Given the description of an element on the screen output the (x, y) to click on. 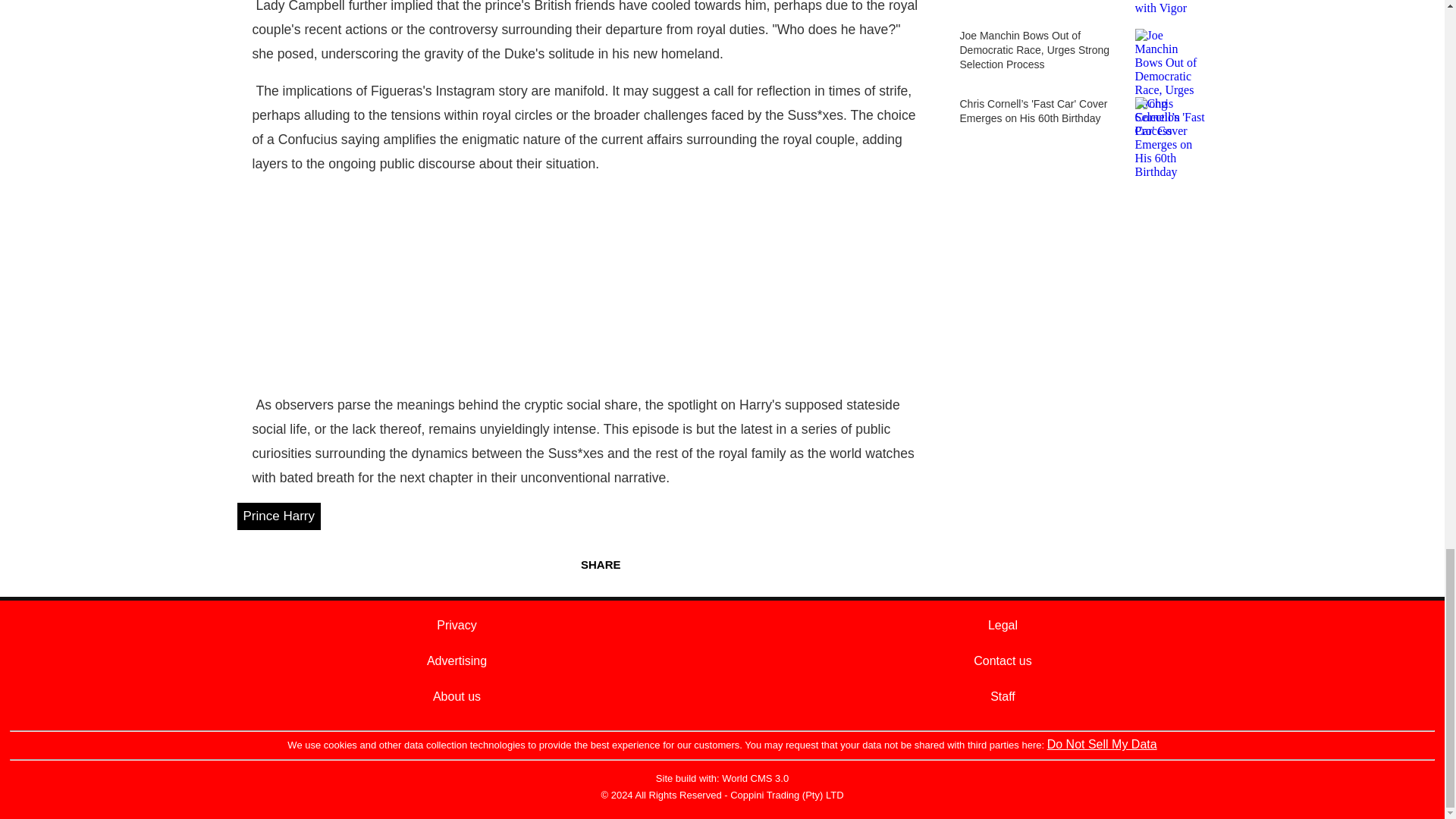
Prince Harry (277, 515)
